Given the description of an element on the screen output the (x, y) to click on. 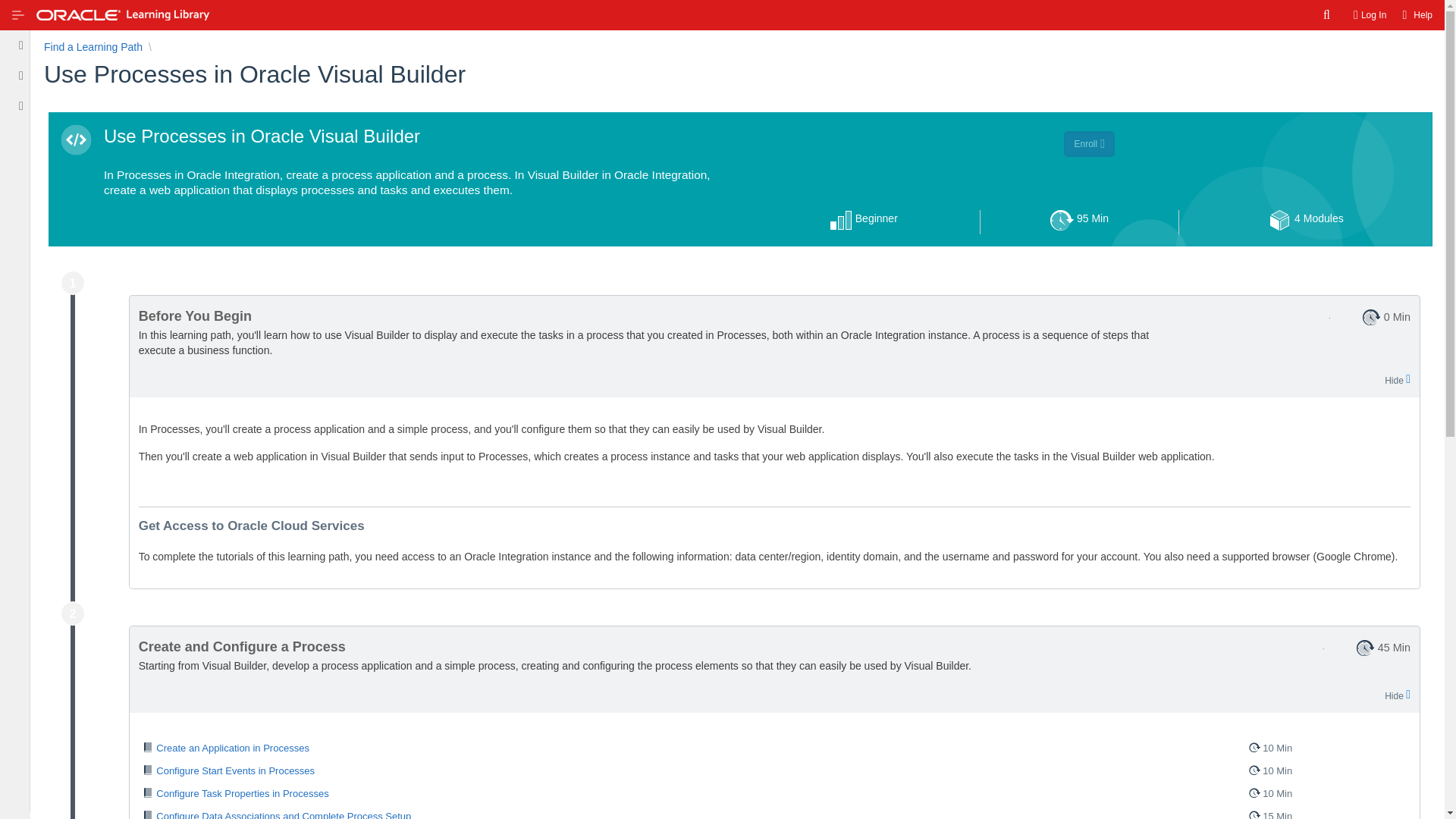
Configure Task Properties in Processes 10 Min (774, 793)
Enroll (1088, 221)
Log In (1088, 144)
Create an Application in Processes 10 Min (1369, 15)
Help (774, 748)
Find a Learning Path (1414, 15)
Configure Start Events in Processes 10 Min (92, 46)
